Given the description of an element on the screen output the (x, y) to click on. 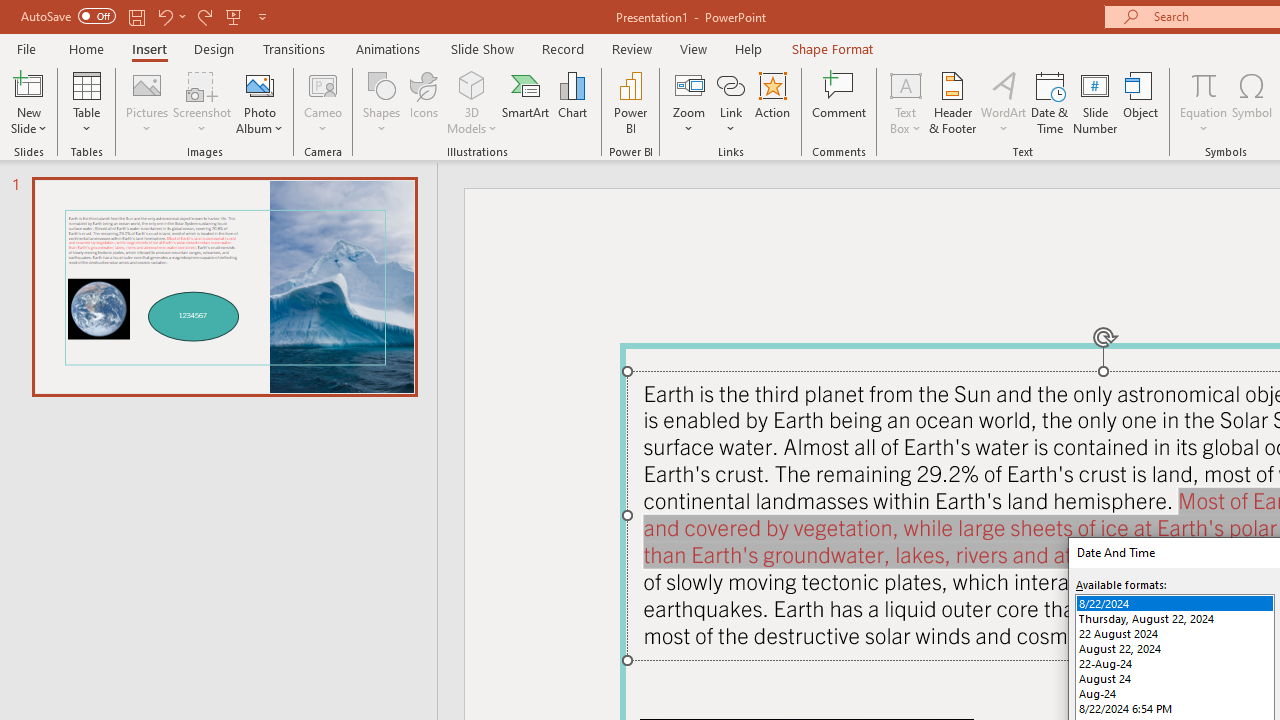
Photo Album... (259, 102)
Draw Horizontal Text Box (905, 84)
